Given the description of an element on the screen output the (x, y) to click on. 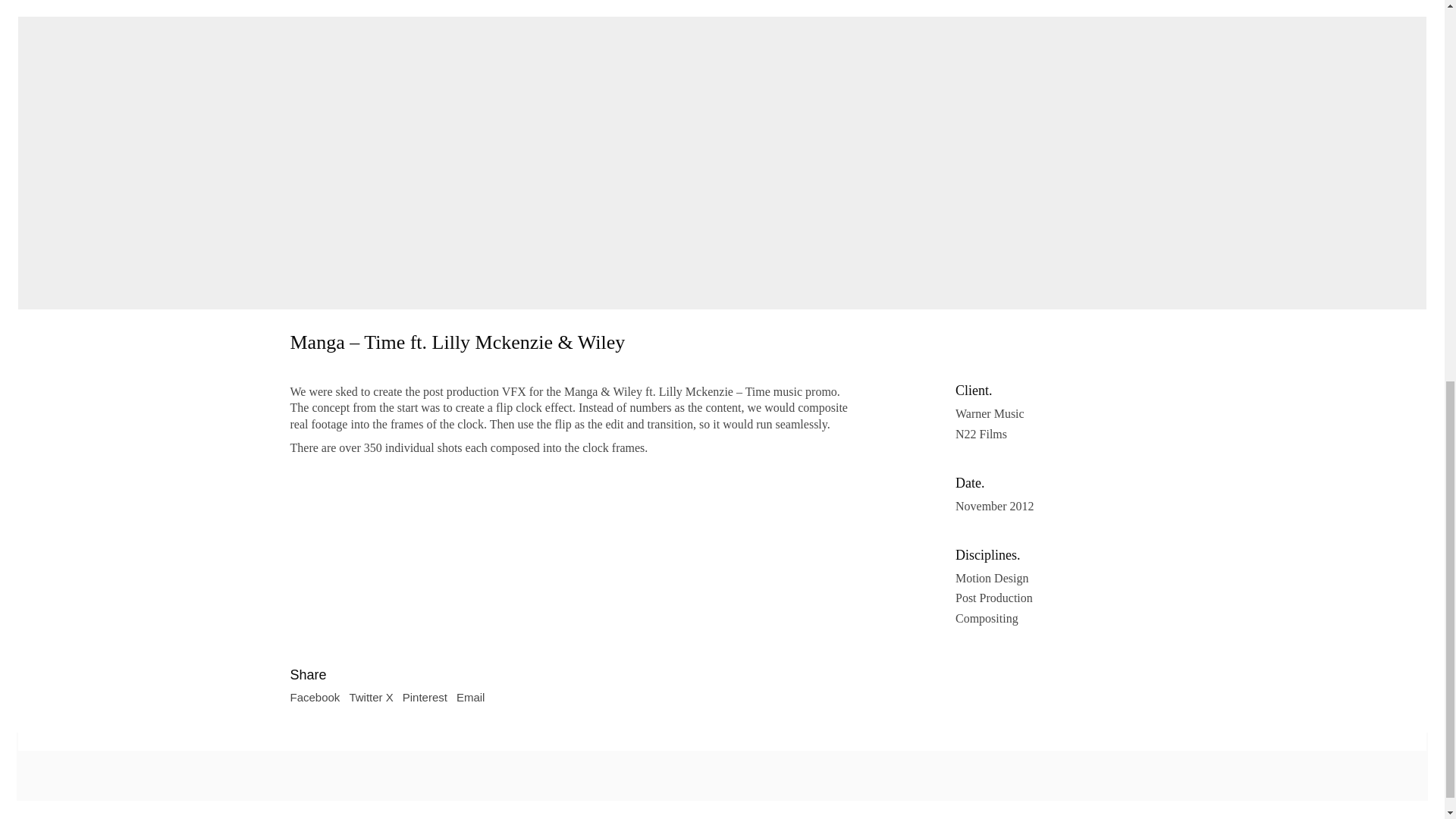
Email (470, 697)
Twitter X (371, 697)
Pinterest (424, 697)
Facebook (314, 697)
